Given the description of an element on the screen output the (x, y) to click on. 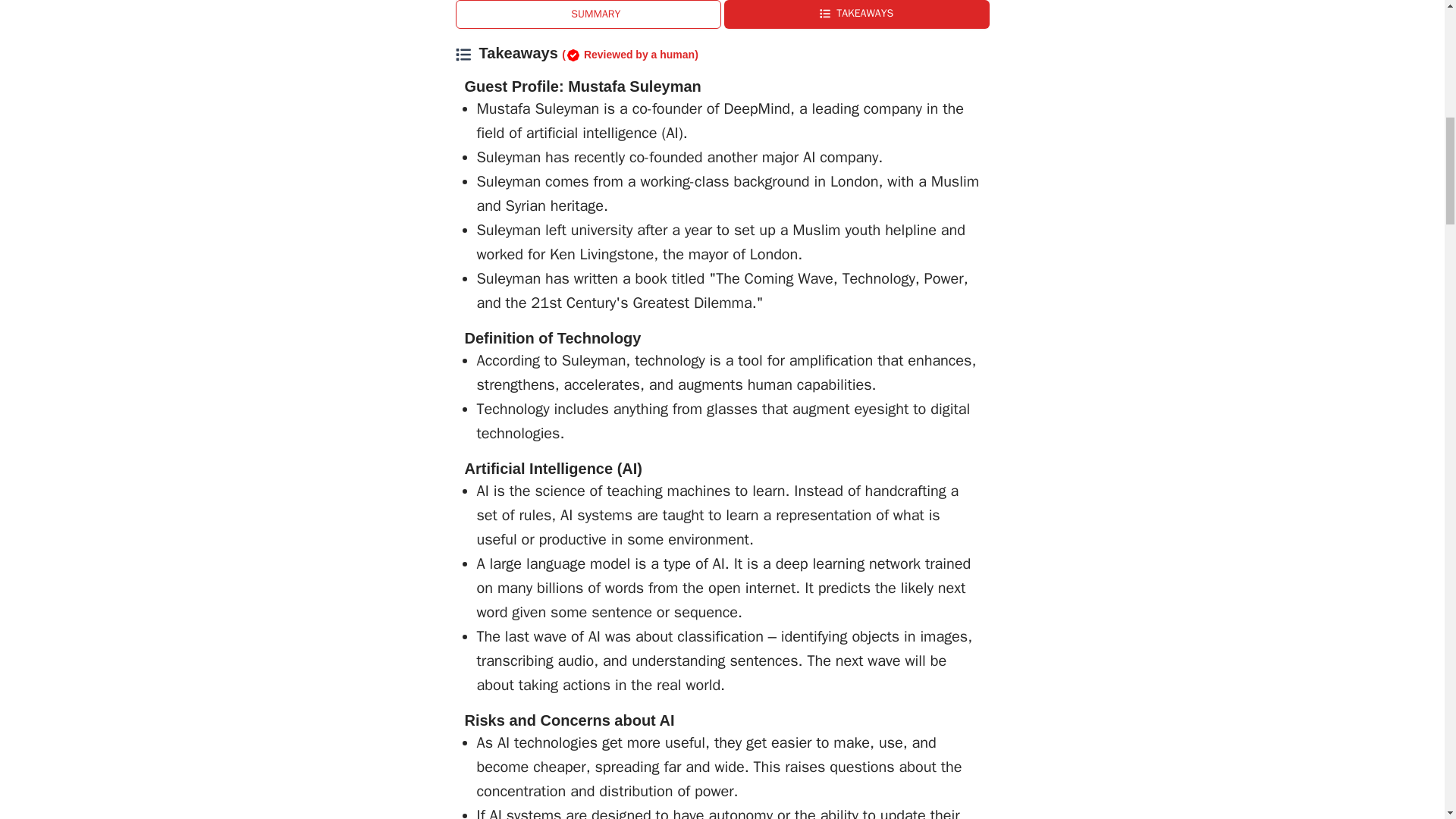
160. White House or jail? The future of Donald J. Trump (583, 2)
White House or jail? The future of Donald J. Trump (859, 2)
